Given the description of an element on the screen output the (x, y) to click on. 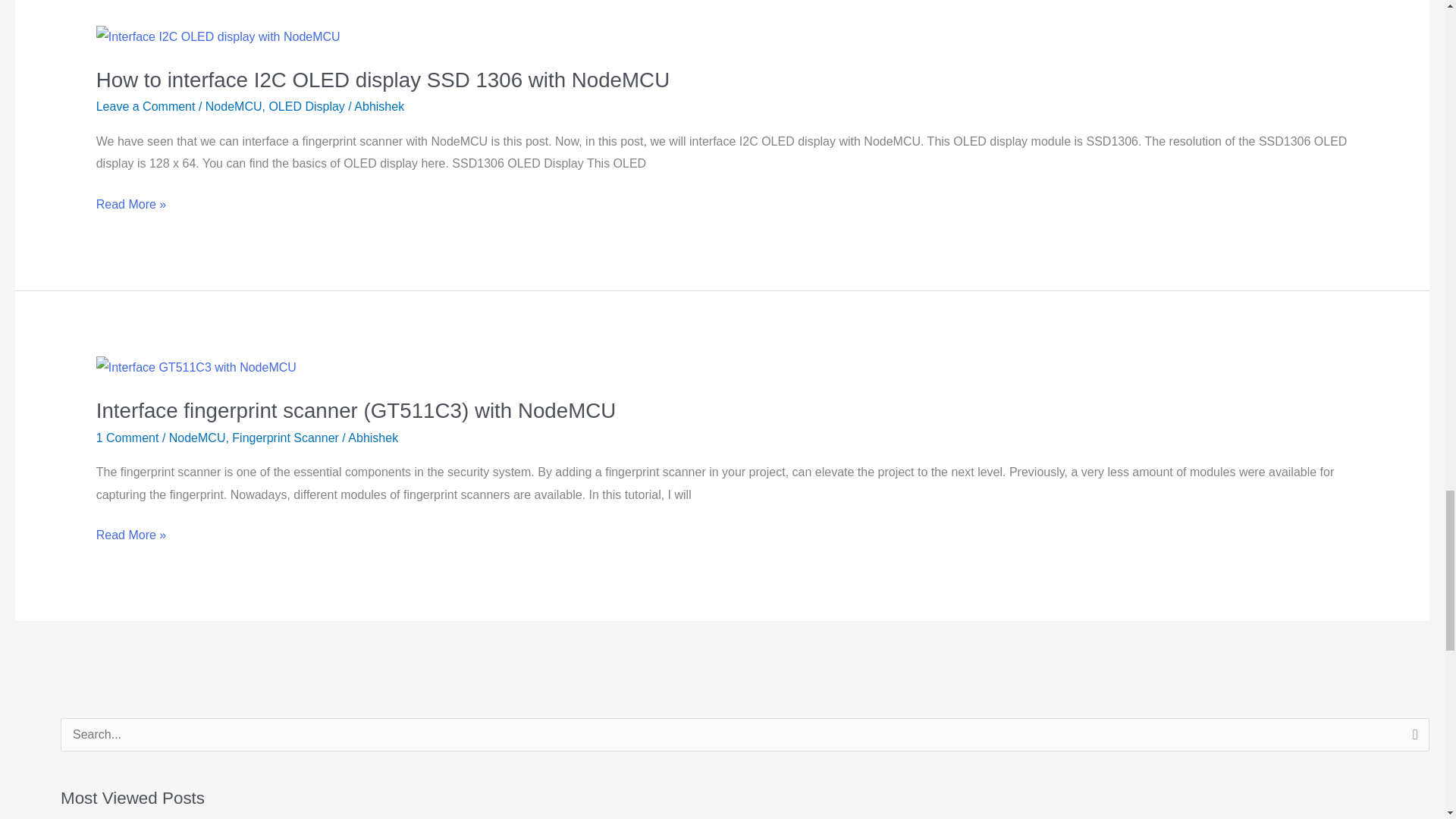
View all posts by Abhishek (372, 437)
View all posts by Abhishek (378, 106)
